Given the description of an element on the screen output the (x, y) to click on. 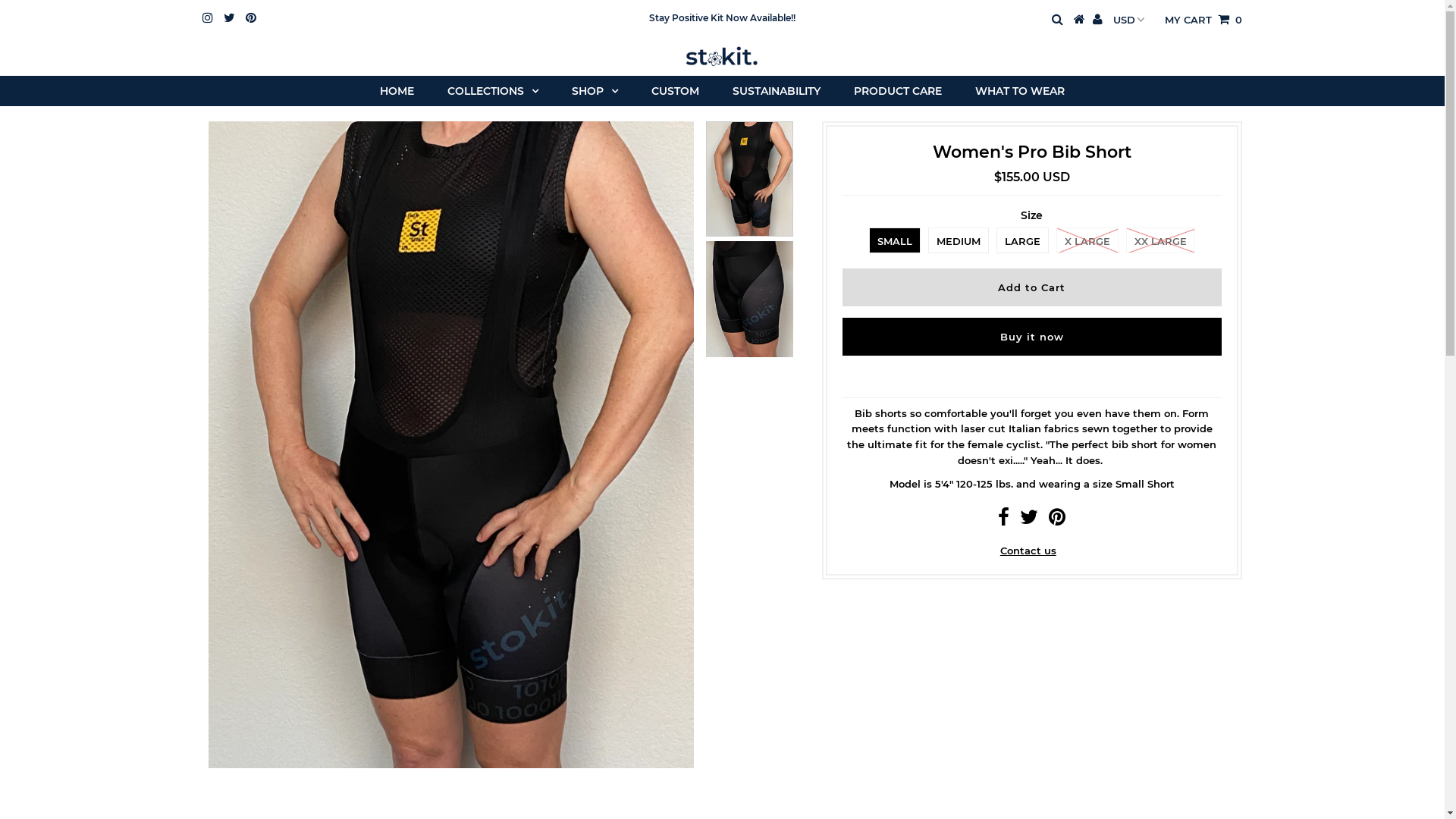
Share on Facebook Element type: hover (1003, 520)
MY CART    0 Element type: text (1203, 19)
Buy it now Element type: text (1031, 336)
PRODUCT CARE Element type: text (897, 90)
Contact us Element type: text (1028, 550)
SHOP Element type: text (594, 90)
Share on Twitter Element type: hover (1028, 520)
CUSTOM Element type: text (675, 90)
WHAT TO WEAR Element type: text (1019, 90)
HOME Element type: text (396, 90)
Add to Cart Element type: text (1031, 287)
COLLECTIONS Element type: text (492, 90)
Share on Pinterest Element type: hover (1056, 520)
SUSTAINABILITY Element type: text (776, 90)
